Given the description of an element on the screen output the (x, y) to click on. 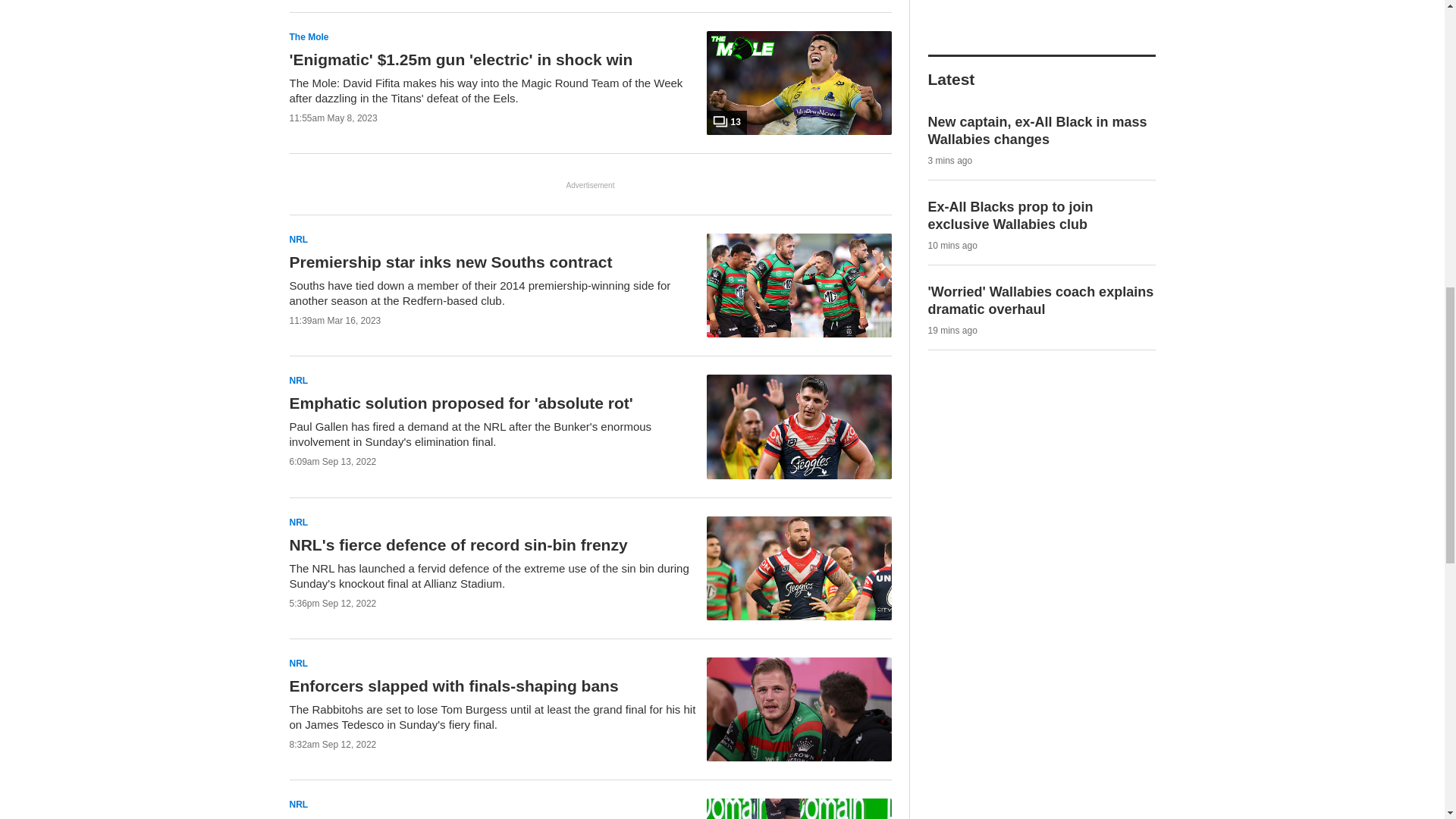
NRL (298, 239)
Premiership star inks new Souths contract (450, 262)
The Mole (309, 37)
